Given the description of an element on the screen output the (x, y) to click on. 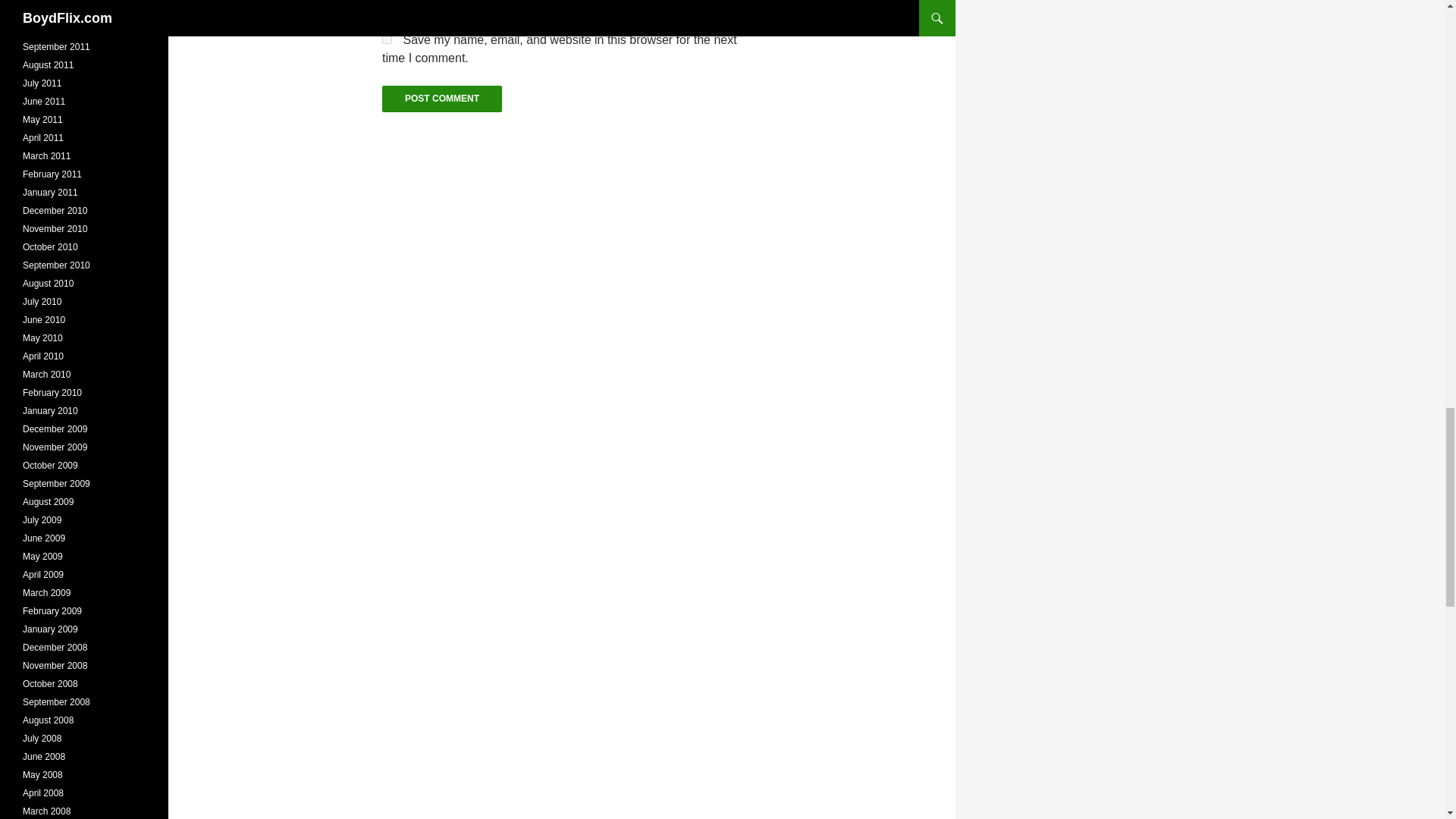
yes (386, 39)
Post Comment (441, 98)
Post Comment (441, 98)
